Given the description of an element on the screen output the (x, y) to click on. 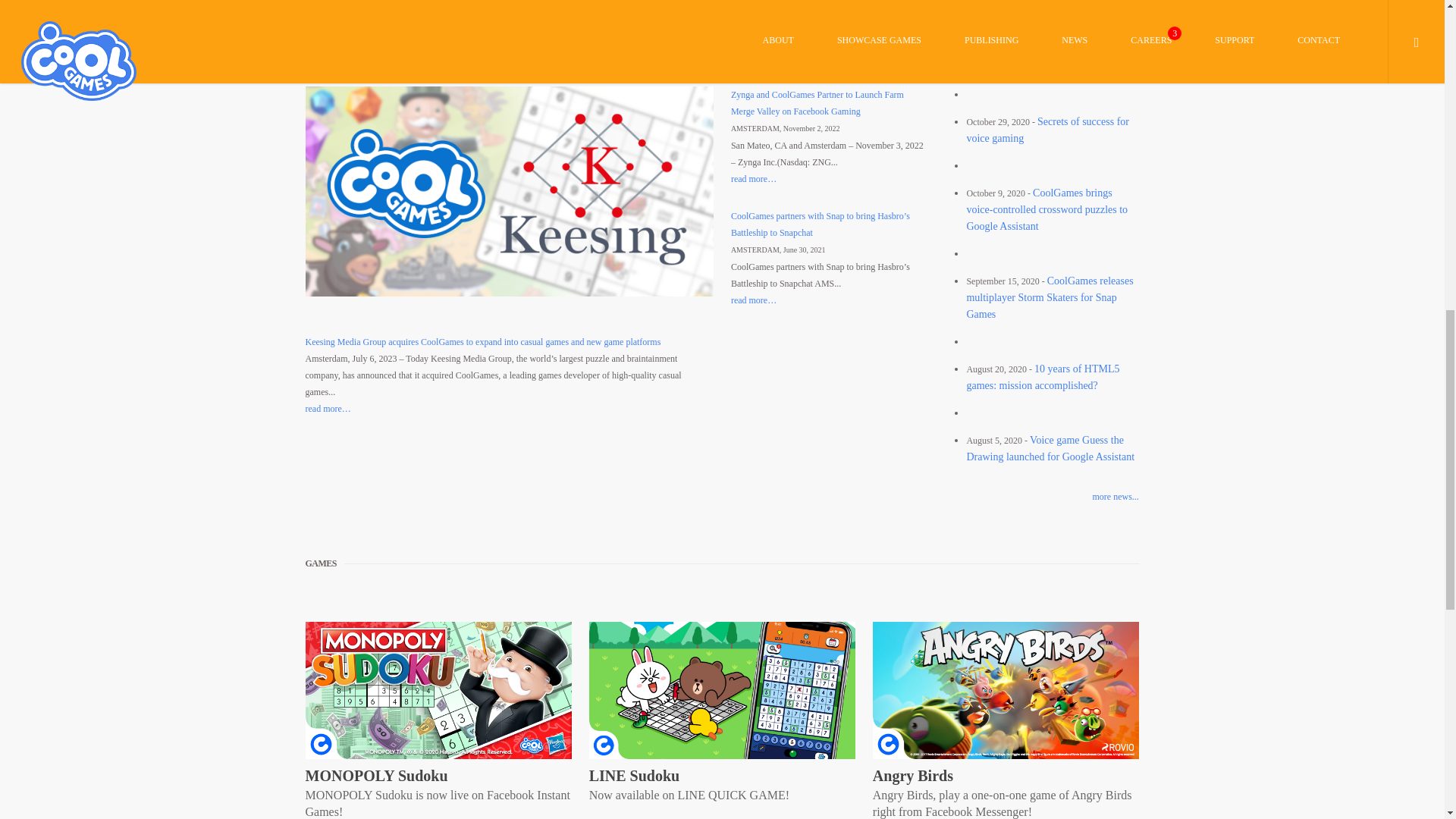
more news... (1040, 496)
October 29, 2020 - Secrets of success for voice gaming (1047, 130)
